Given the description of an element on the screen output the (x, y) to click on. 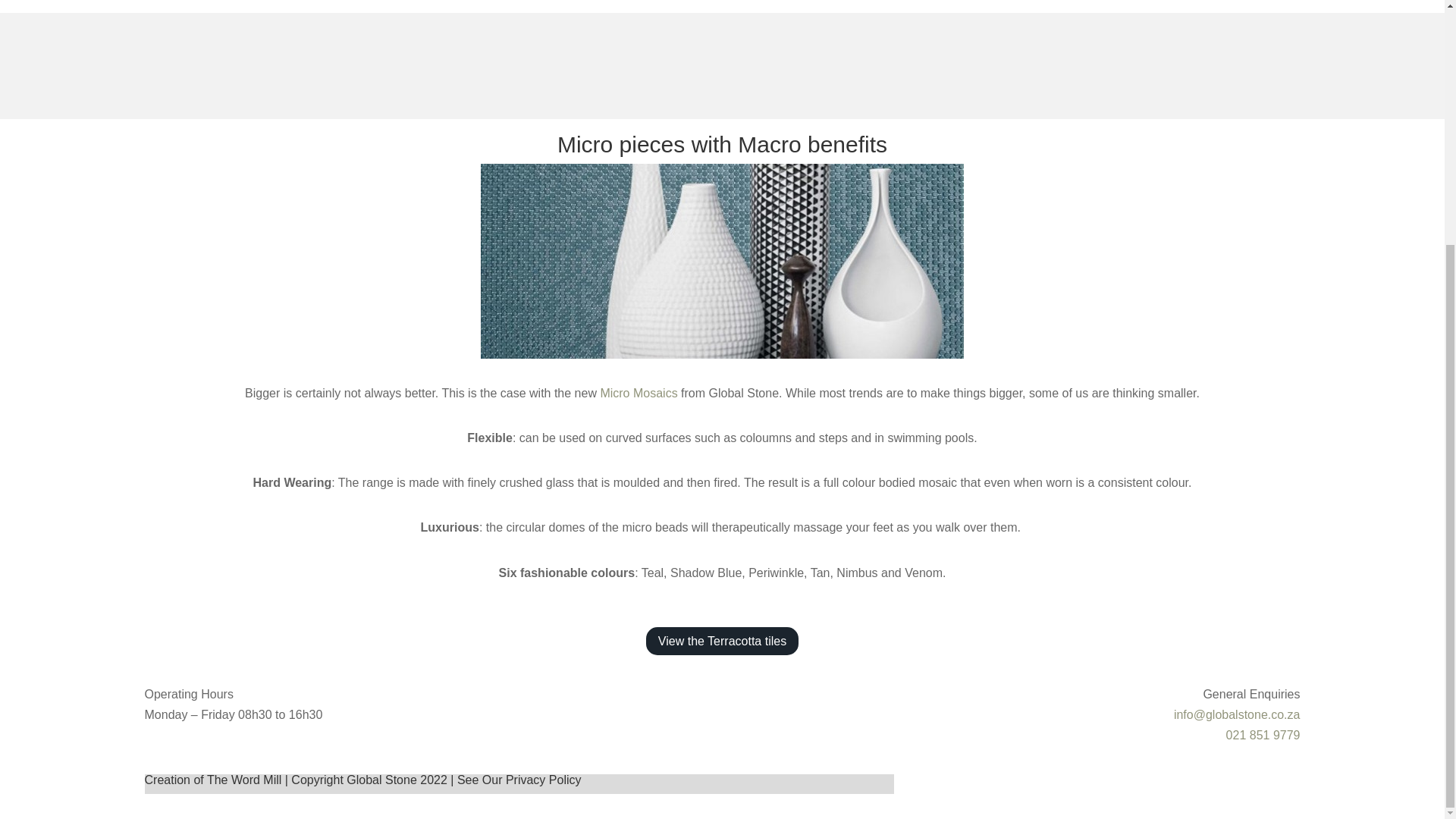
View Privacy Policy (542, 779)
View the Terracotta tiles (721, 641)
Follow on Facebook (1256, 785)
Follow on Instagram (1287, 785)
Micro Mosaics (638, 392)
The Word Mill (243, 779)
Privacy Policy (542, 779)
021 851 9779 (1262, 735)
